Given the description of an element on the screen output the (x, y) to click on. 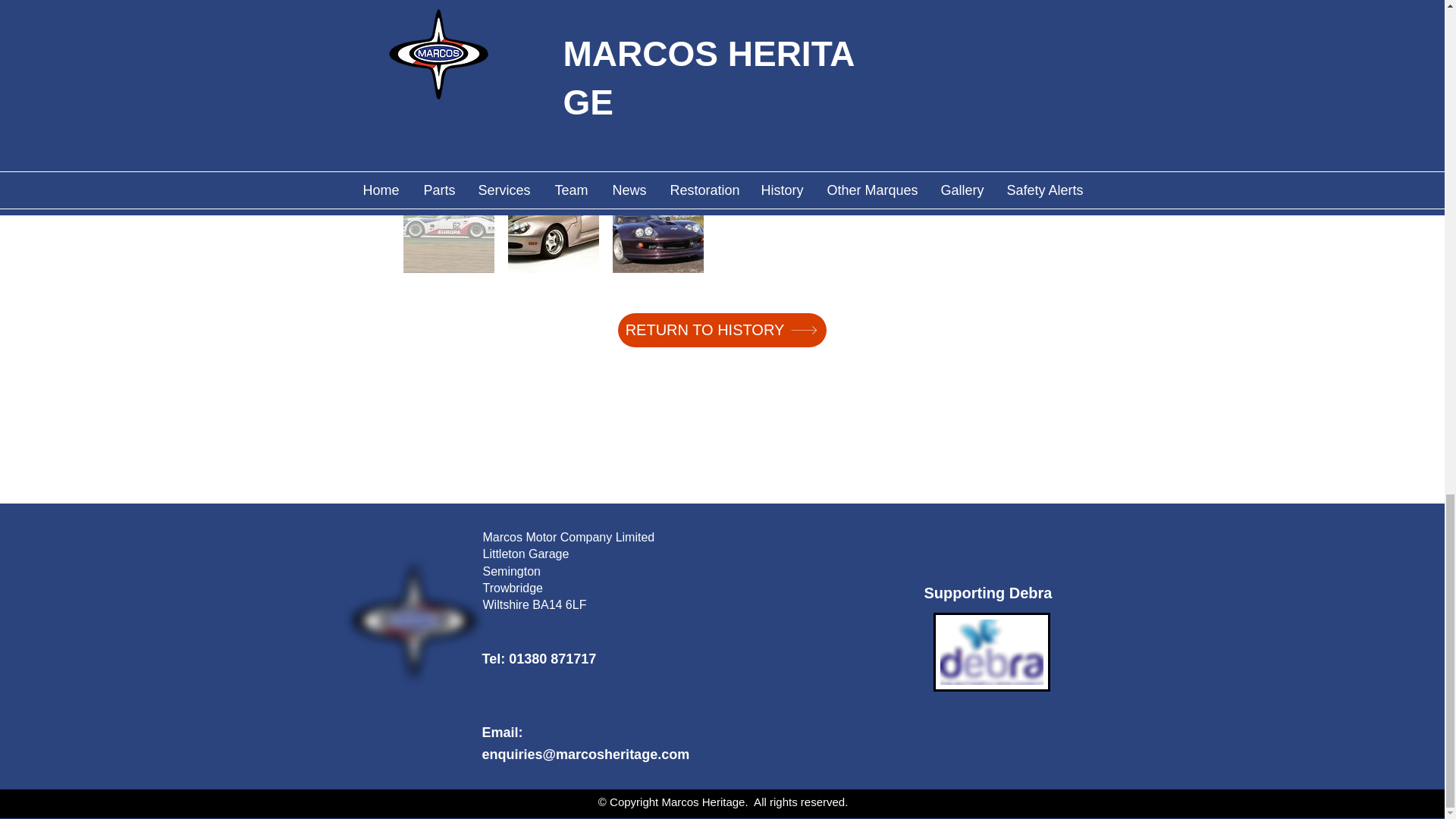
RETURN TO HISTORY (721, 329)
Debra.png (991, 651)
